Given the description of an element on the screen output the (x, y) to click on. 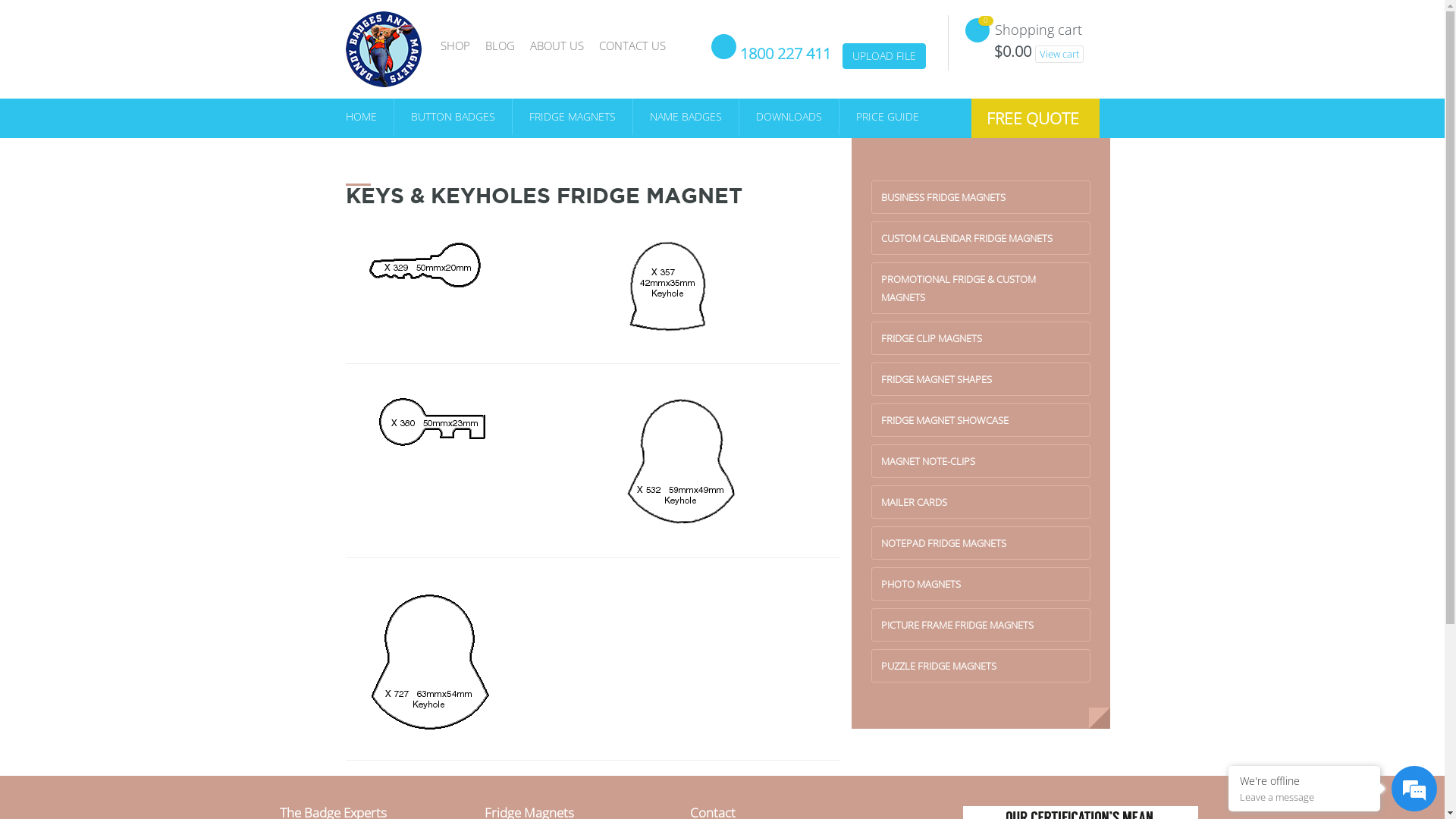
FRIDGE MAGNETS Element type: text (572, 116)
PUZZLE FRIDGE MAGNETS Element type: text (980, 665)
FRIDGE CLIP MAGNETS Element type: text (980, 337)
UPLOAD FILE Element type: text (883, 56)
PROMOTIONAL FRIDGE & CUSTOM MAGNETS Element type: text (980, 287)
PICTURE FRAME FRIDGE MAGNETS Element type: text (980, 624)
MAILER CARDS Element type: text (980, 501)
CONTACT US Element type: text (632, 45)
NAME BADGES Element type: text (685, 116)
View cart Element type: text (1059, 54)
BLOG Element type: text (499, 45)
NOTEPAD FRIDGE MAGNETS Element type: text (980, 542)
FRIDGE MAGNET SHOWCASE Element type: text (980, 419)
BUSINESS FRIDGE MAGNETS Element type: text (980, 196)
CUSTOM CALENDAR FRIDGE MAGNETS Element type: text (980, 237)
ABOUT US Element type: text (555, 45)
SHOP Element type: text (454, 45)
BUTTON BADGES Element type: text (453, 116)
PHOTO MAGNETS Element type: text (980, 583)
FRIDGE MAGNET SHAPES Element type: text (980, 378)
MAGNET NOTE-CLIPS Element type: text (980, 460)
DOWNLOADS Element type: text (788, 116)
FREE QUOTE Element type: text (1034, 118)
PRICE GUIDE Element type: text (878, 116)
HOME Element type: text (369, 116)
